Given the description of an element on the screen output the (x, y) to click on. 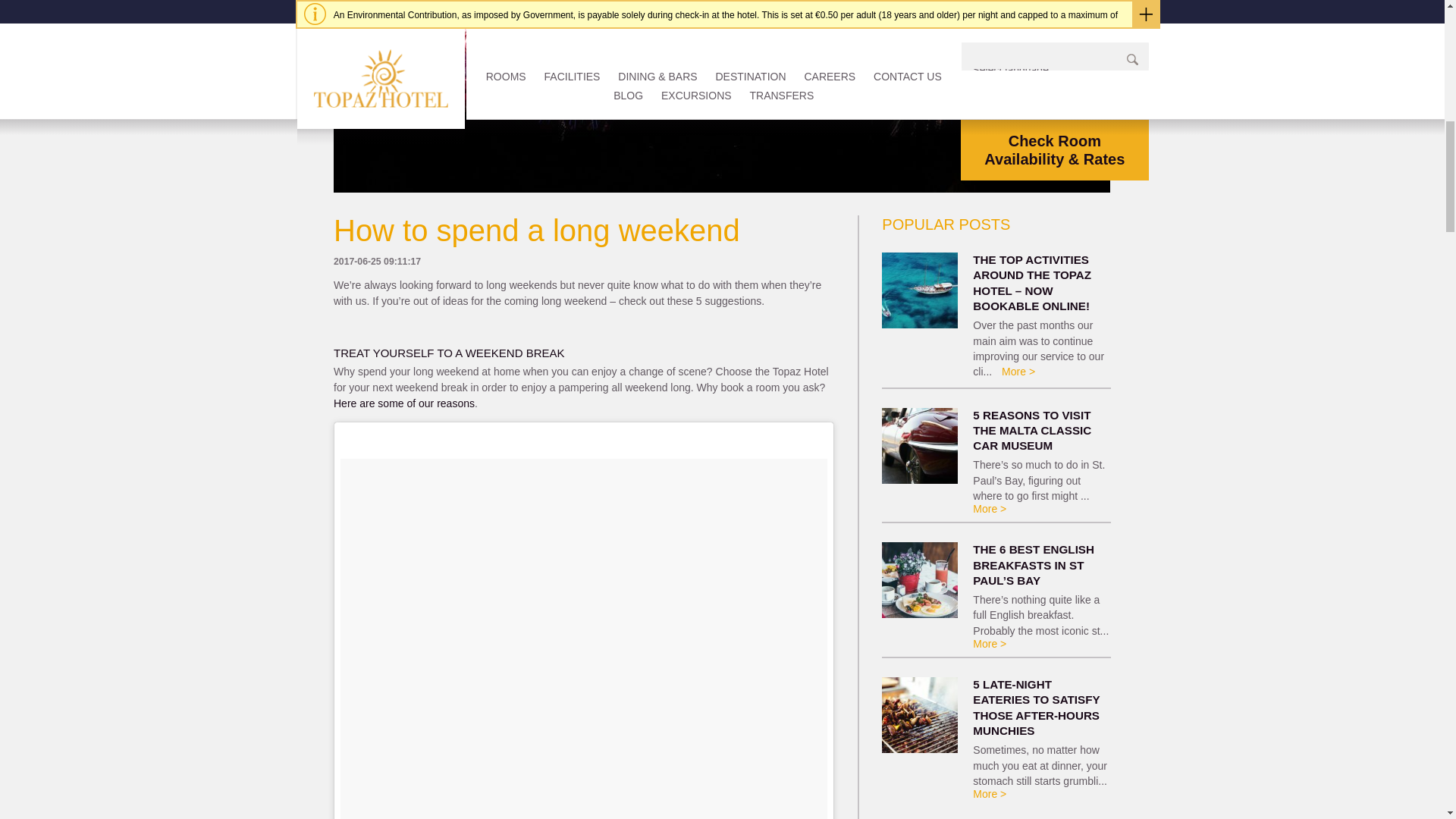
Here are some of our reasons (403, 403)
